Given the description of an element on the screen output the (x, y) to click on. 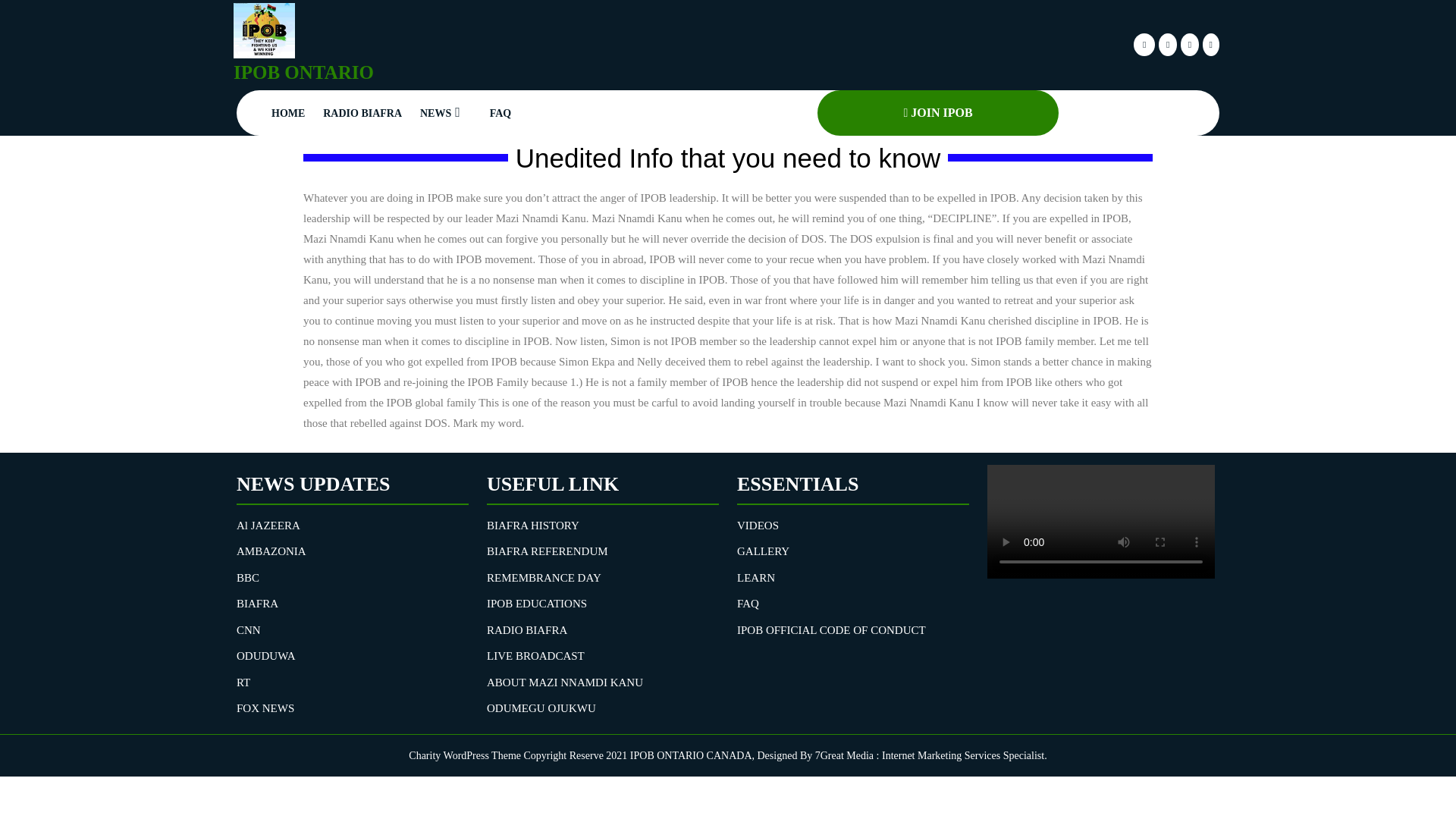
HOME (288, 112)
IPOB ONTARIO (303, 72)
RADIO BIAFRA (362, 112)
NEWS (445, 112)
